Given the description of an element on the screen output the (x, y) to click on. 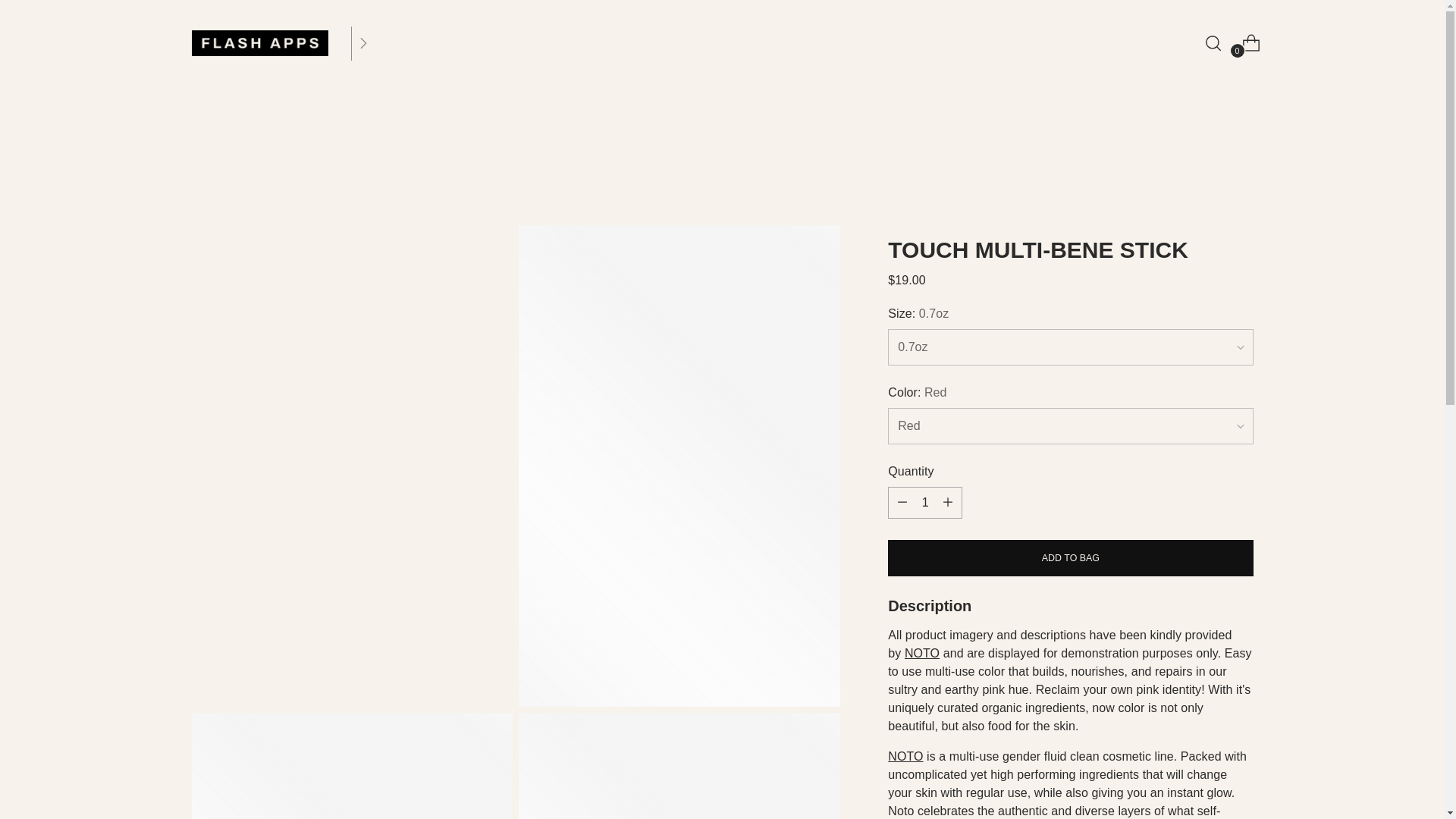
Noto Botanics (905, 756)
NOTO (905, 756)
0 (1245, 42)
ADD TO BAG (1070, 557)
1 (925, 502)
NOTO (921, 653)
Noto Botanics (921, 653)
